Given the description of an element on the screen output the (x, y) to click on. 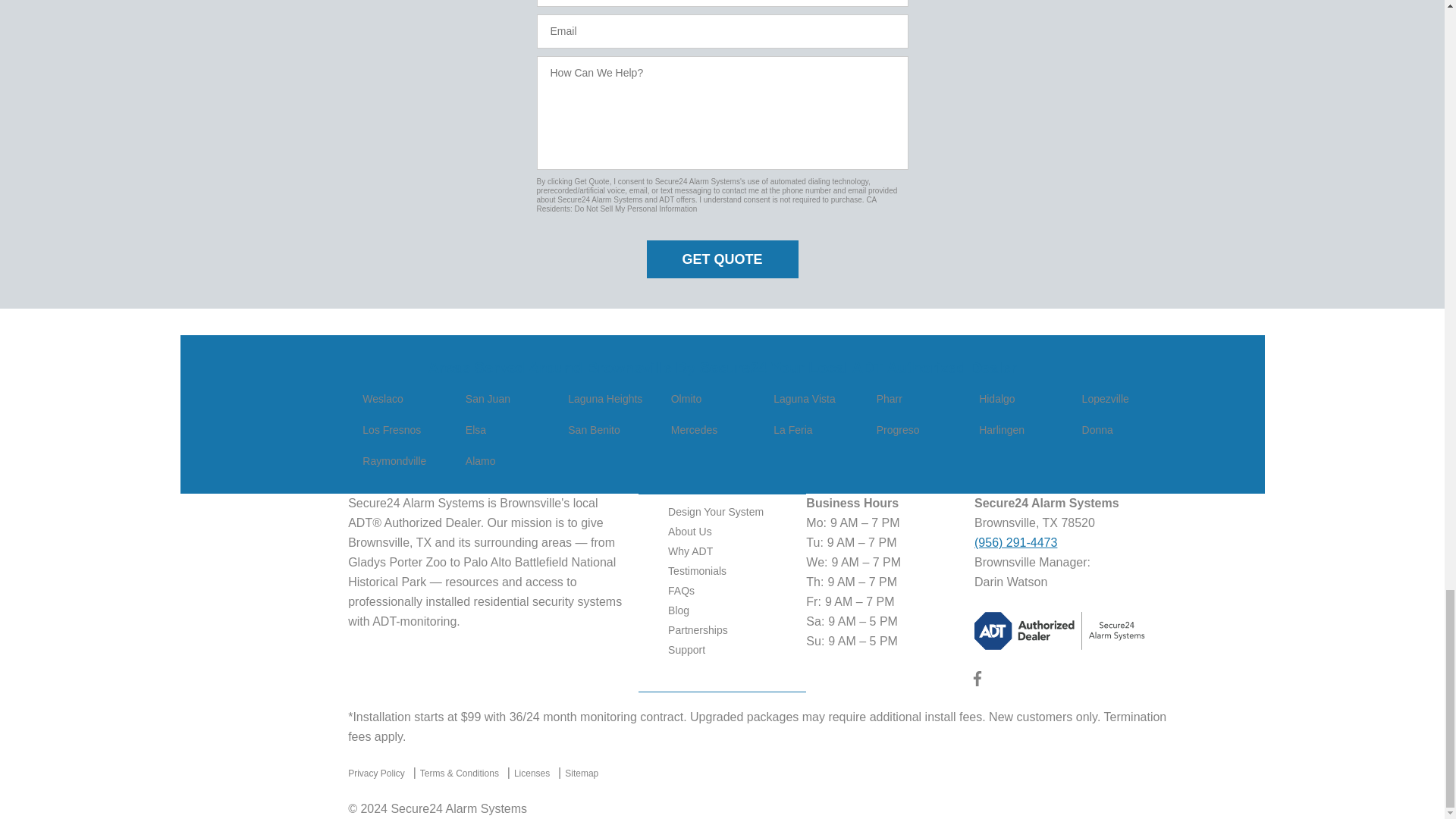
Like us on Facebook (977, 681)
GET QUOTE (721, 259)
